Given the description of an element on the screen output the (x, y) to click on. 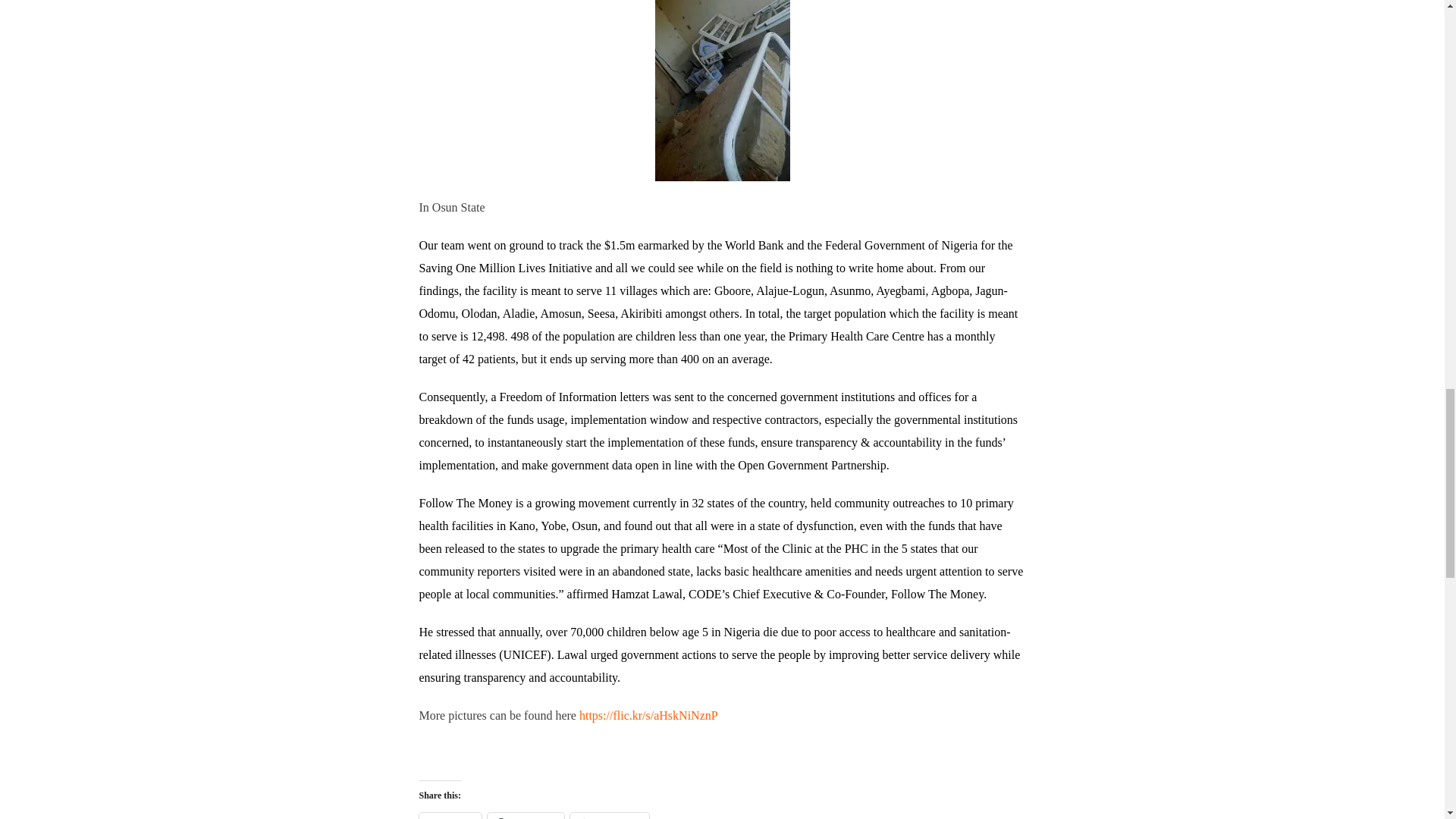
Click to share on Twitter (449, 816)
Click to share on WhatsApp (609, 816)
Click to share on Facebook (525, 816)
